Given the description of an element on the screen output the (x, y) to click on. 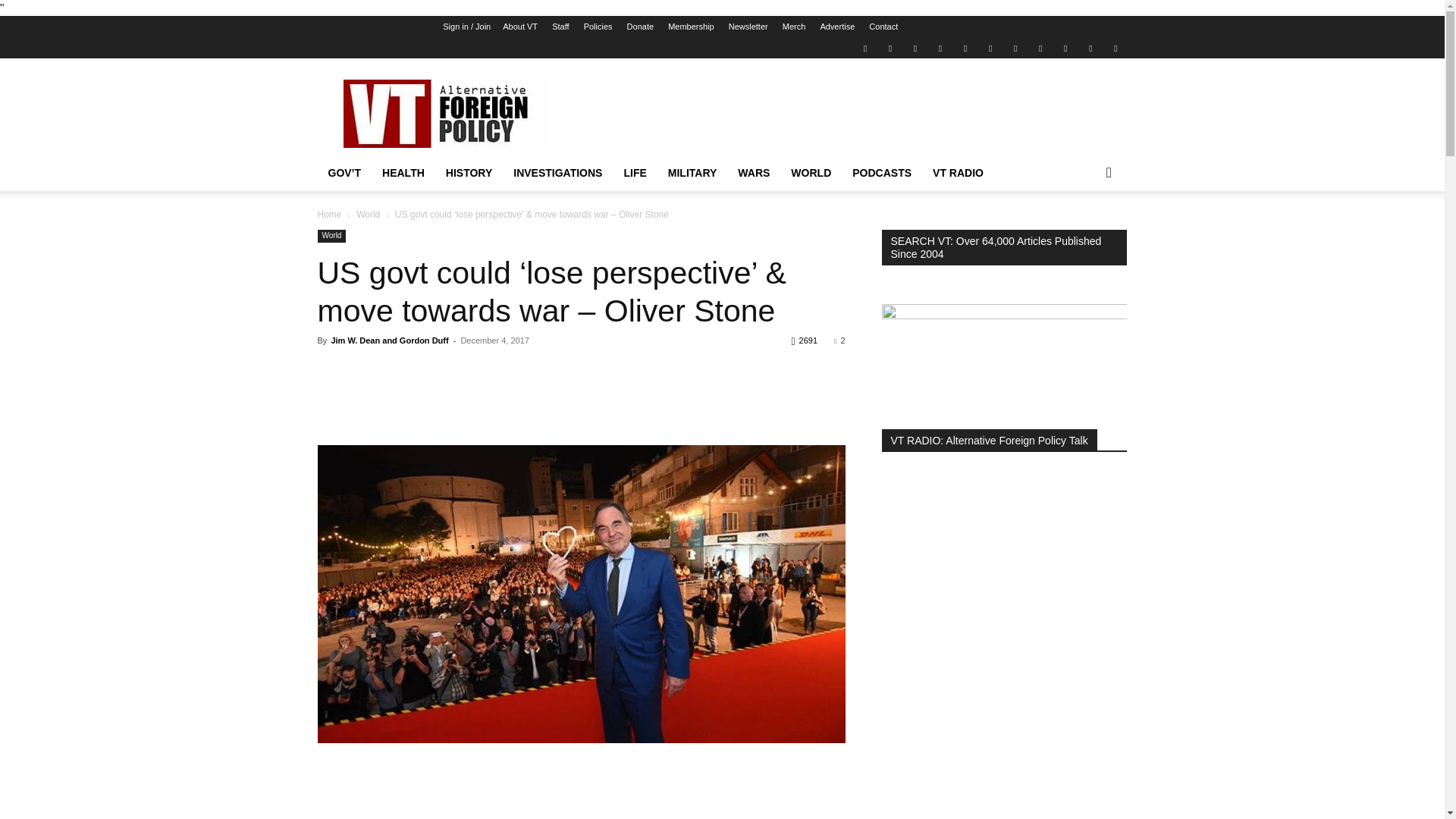
Donate (640, 26)
Staff (560, 26)
Mail (915, 47)
Membership (691, 26)
Merch (794, 26)
Rumble (964, 47)
Policies (597, 26)
Facebook (890, 47)
Advertise (836, 26)
Contact (883, 26)
